Given the description of an element on the screen output the (x, y) to click on. 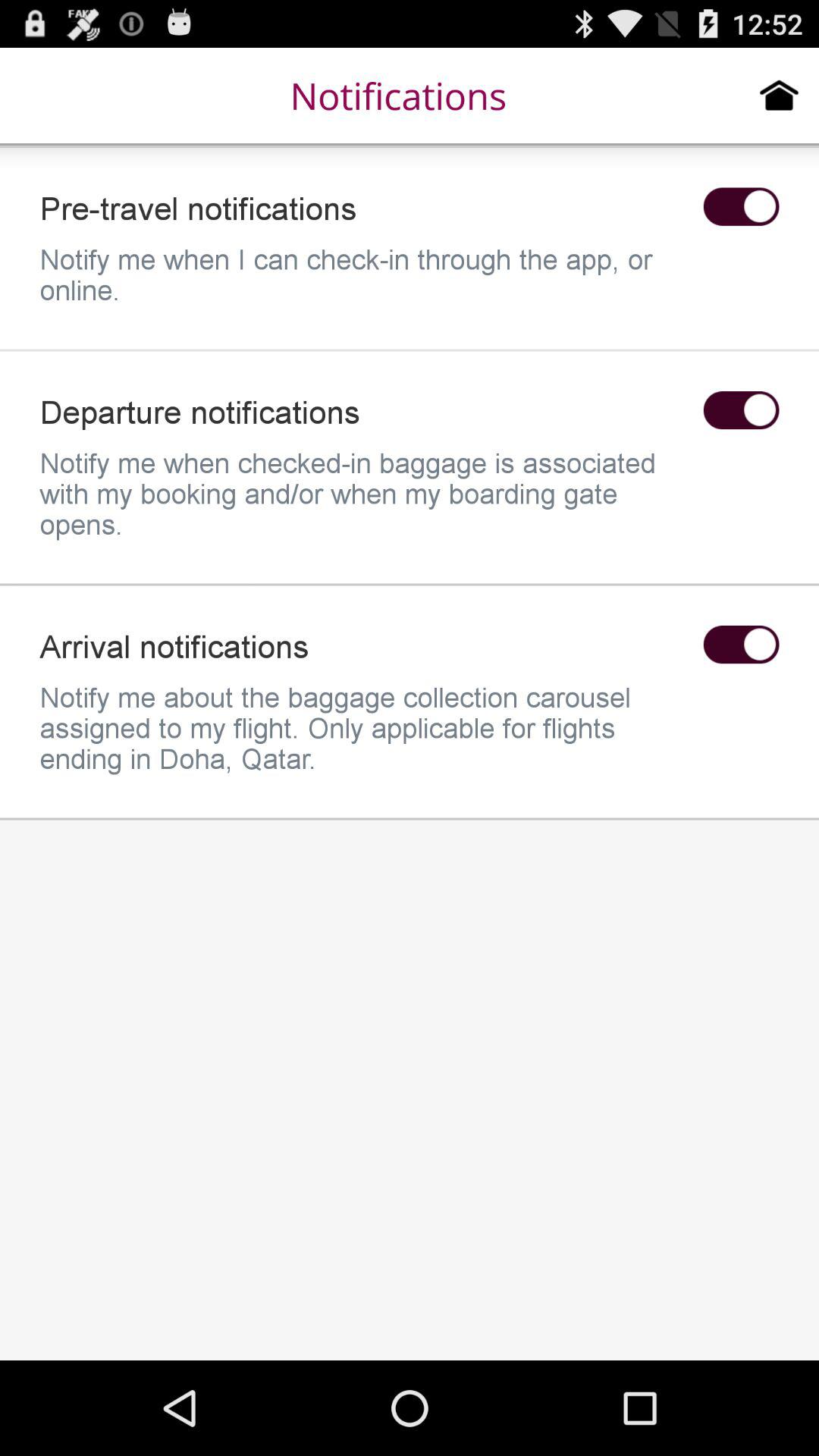
launch the icon to the right of the notifications item (779, 95)
